Given the description of an element on the screen output the (x, y) to click on. 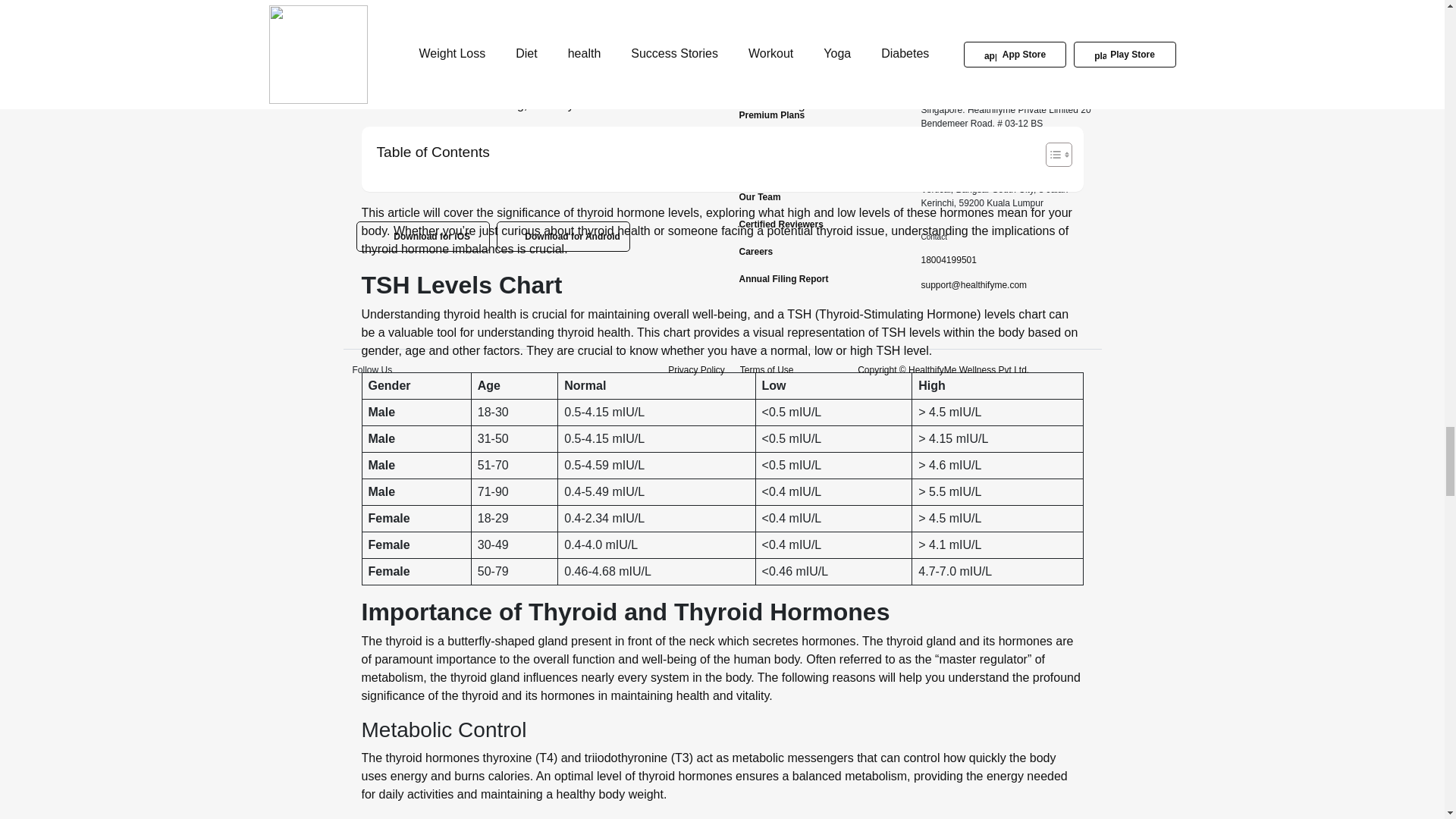
Download for Android (563, 236)
Download for iOS (422, 236)
Download for Android (563, 235)
Download for iOS (422, 235)
